Given the description of an element on the screen output the (x, y) to click on. 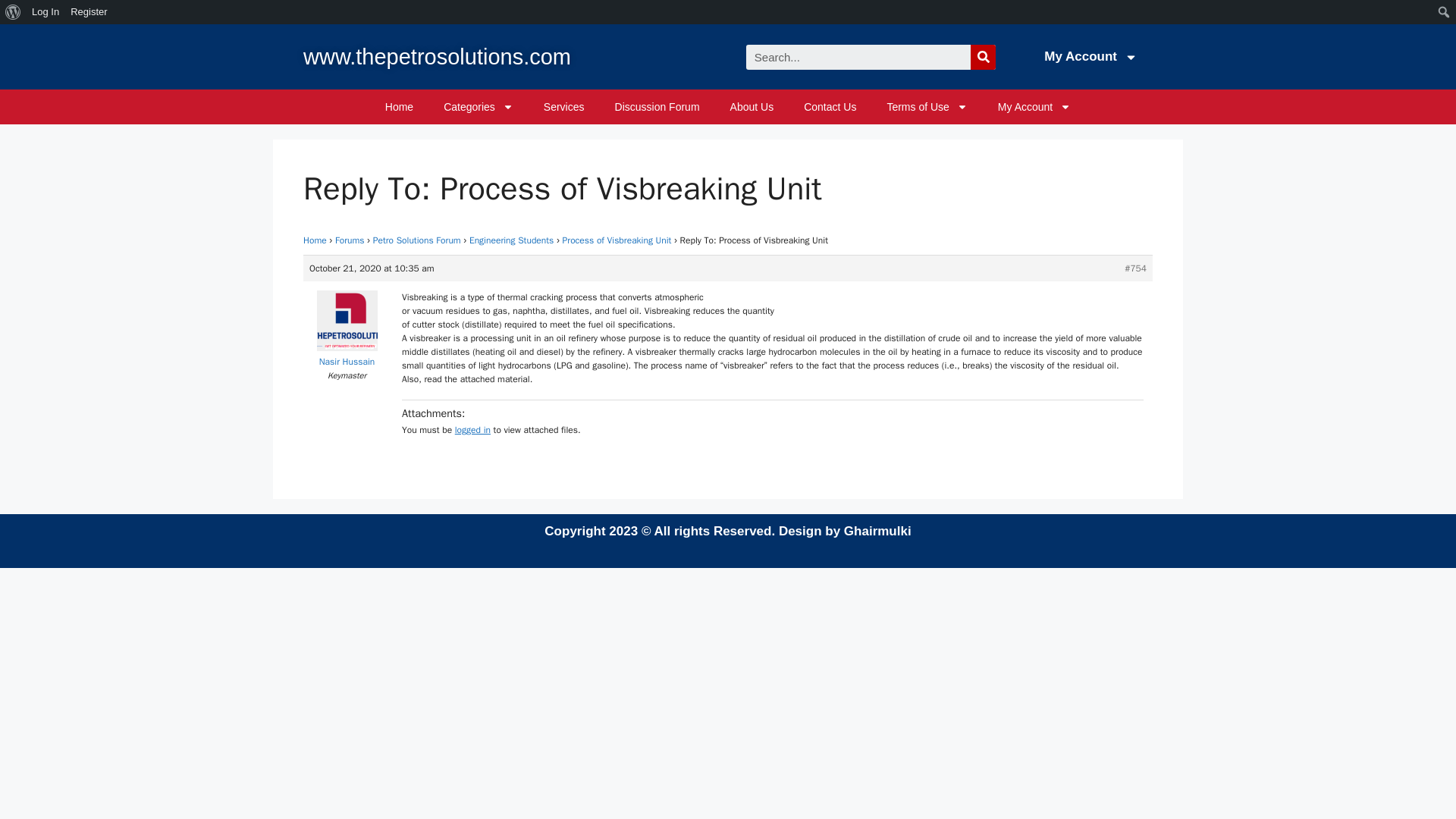
Home (398, 106)
www.thepetrosolutions.com (436, 55)
View Nasir Hussain's profile (346, 355)
Contact Us (829, 106)
Search (983, 56)
Categories (478, 106)
Search (858, 56)
My Account (1034, 106)
Terms of Use (925, 106)
About Us (751, 106)
Discussion Forum (656, 106)
Services (563, 106)
My Account (1091, 56)
